Given the description of an element on the screen output the (x, y) to click on. 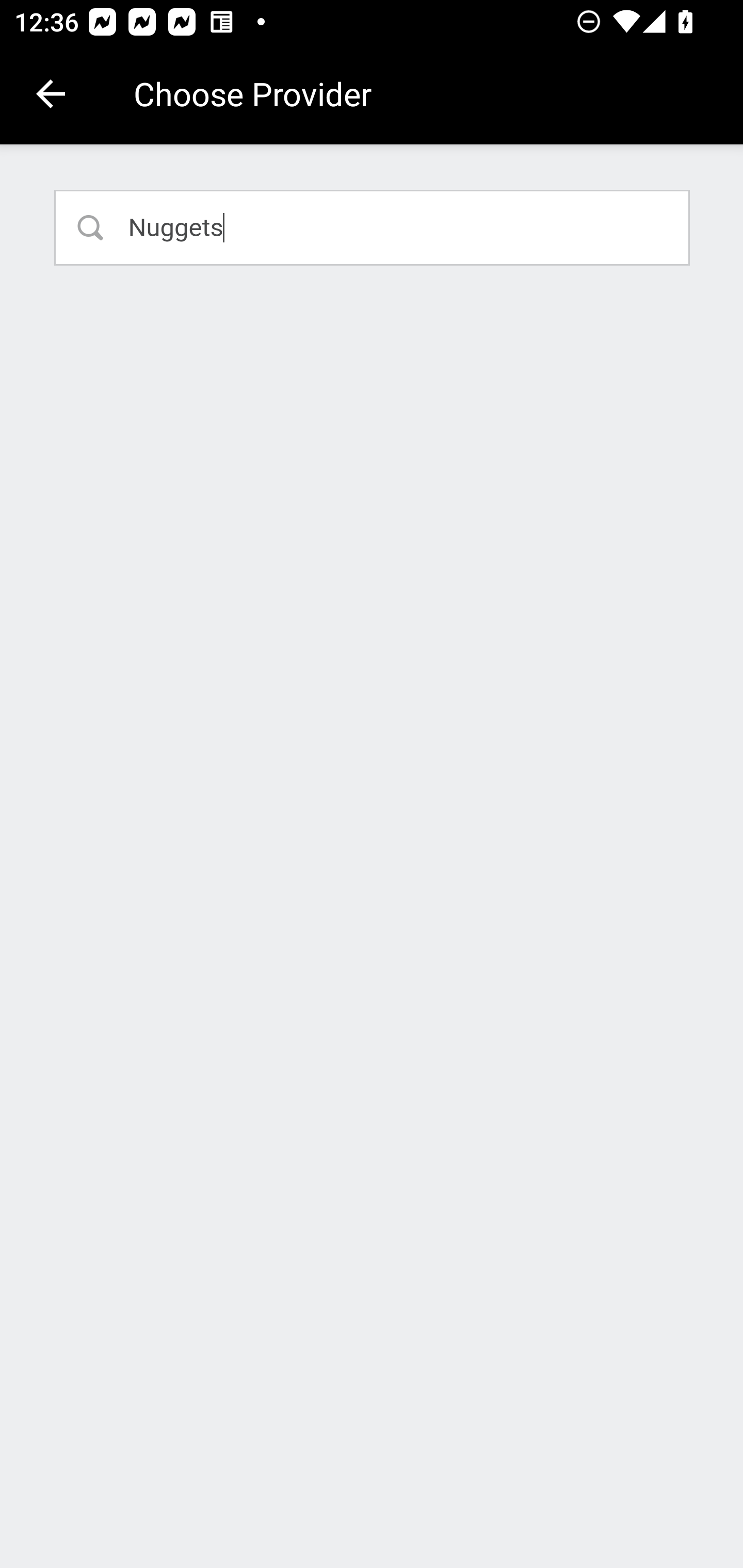
Navigate up (50, 93)
Nuggets (372, 227)
